Given the description of an element on the screen output the (x, y) to click on. 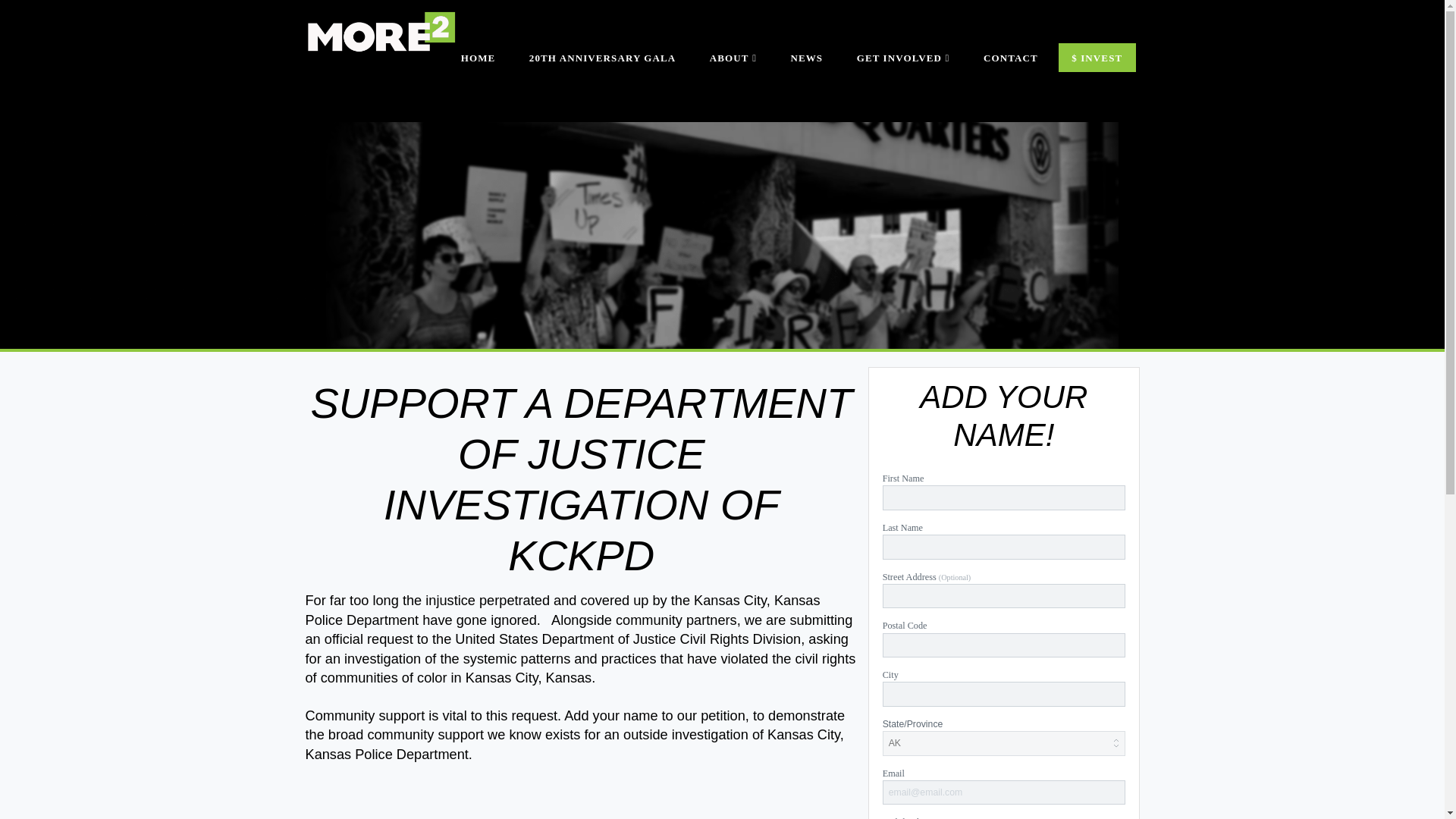
20TH ANNIVERSARY GALA (602, 87)
GET INVOLVED (903, 87)
CONTACT (1010, 87)
ABOUT (733, 87)
Street Address (1003, 595)
HOME (478, 87)
NEWS (806, 87)
